Given the description of an element on the screen output the (x, y) to click on. 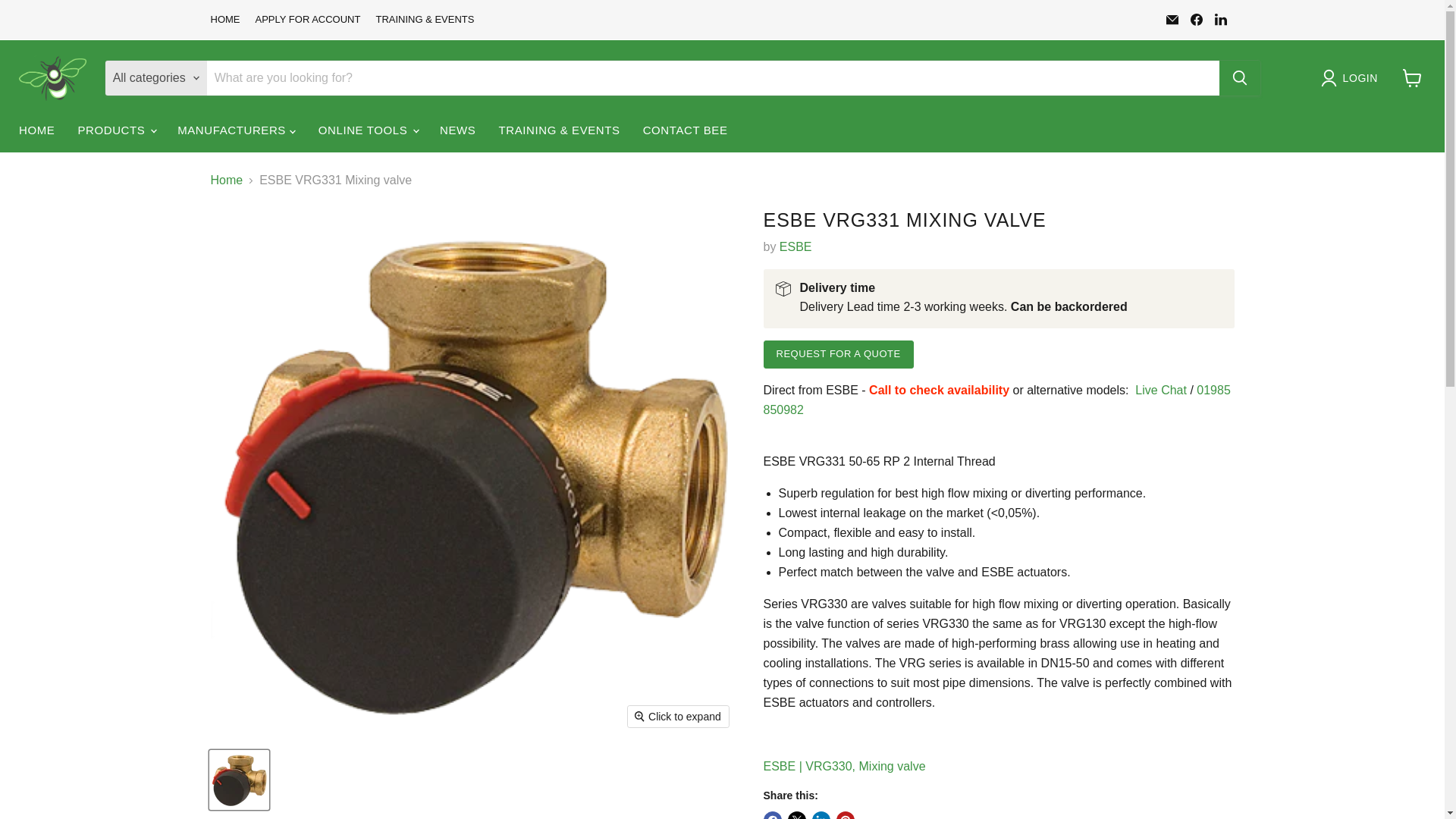
APPLY FOR ACCOUNT (306, 19)
Email BEE - The SMART Heating Merchants (1171, 19)
Find us on LinkedIn (1220, 19)
View cart (1411, 78)
ESBE (795, 246)
LinkedIn (1220, 19)
LOGIN (1352, 77)
Email (1171, 19)
HOME (225, 19)
Facebook (1196, 19)
